Given the description of an element on the screen output the (x, y) to click on. 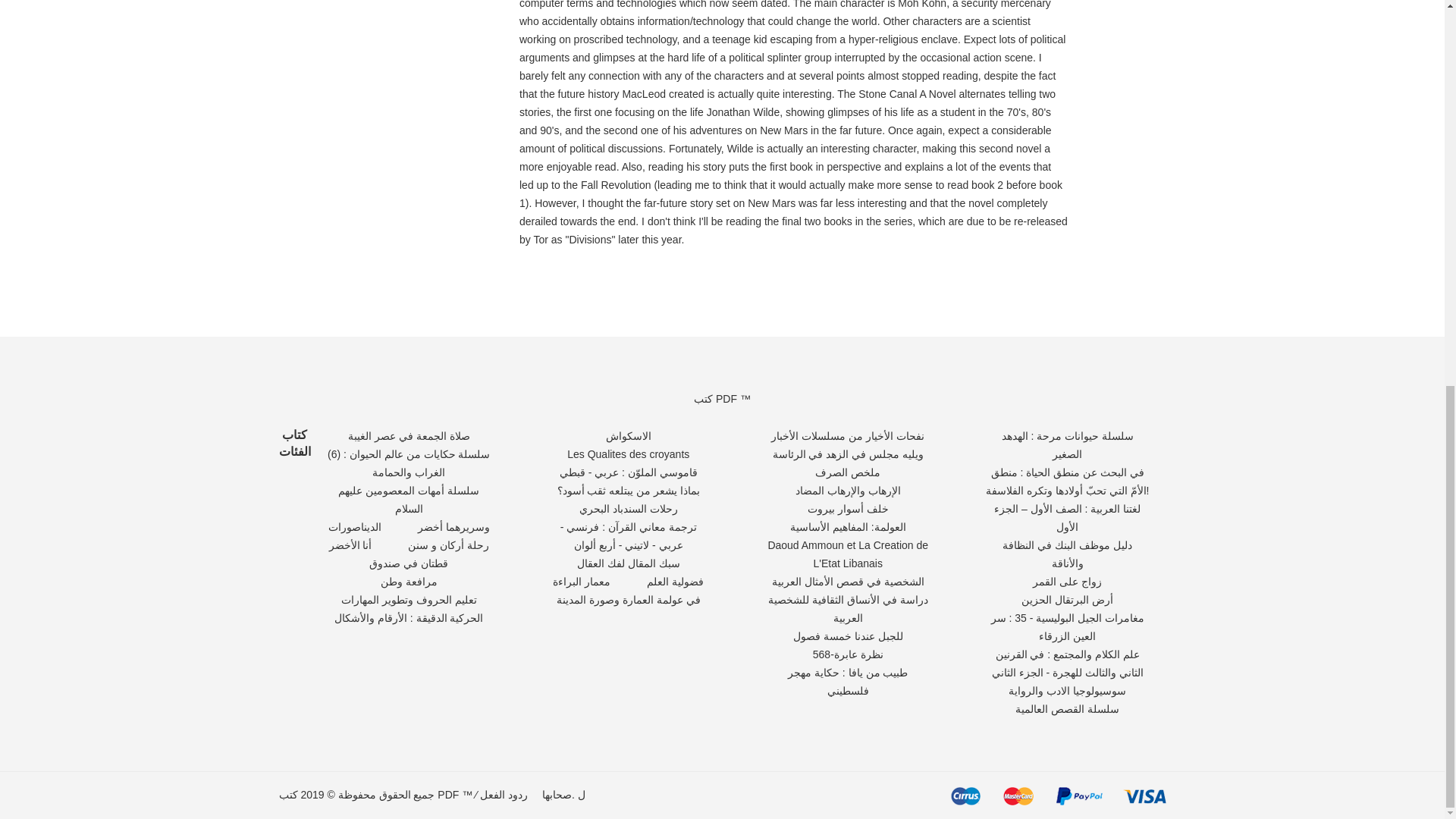
Les Qualites des croyants (627, 453)
Daoud Ammoun et La Creation de L'Etat Libanais (847, 553)
